Given the description of an element on the screen output the (x, y) to click on. 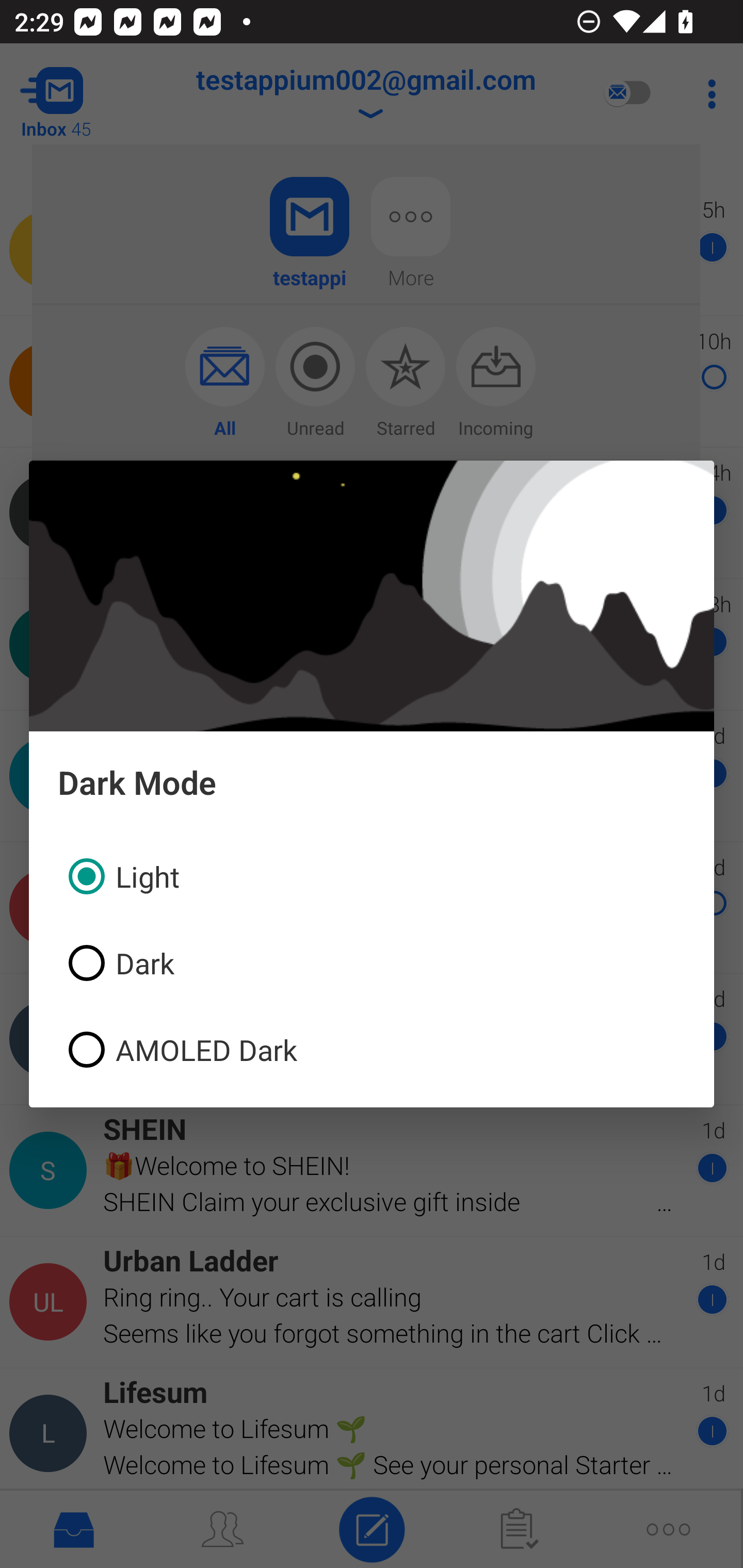
Light (371, 876)
Dark (371, 963)
AMOLED Dark (371, 1049)
